Given the description of an element on the screen output the (x, y) to click on. 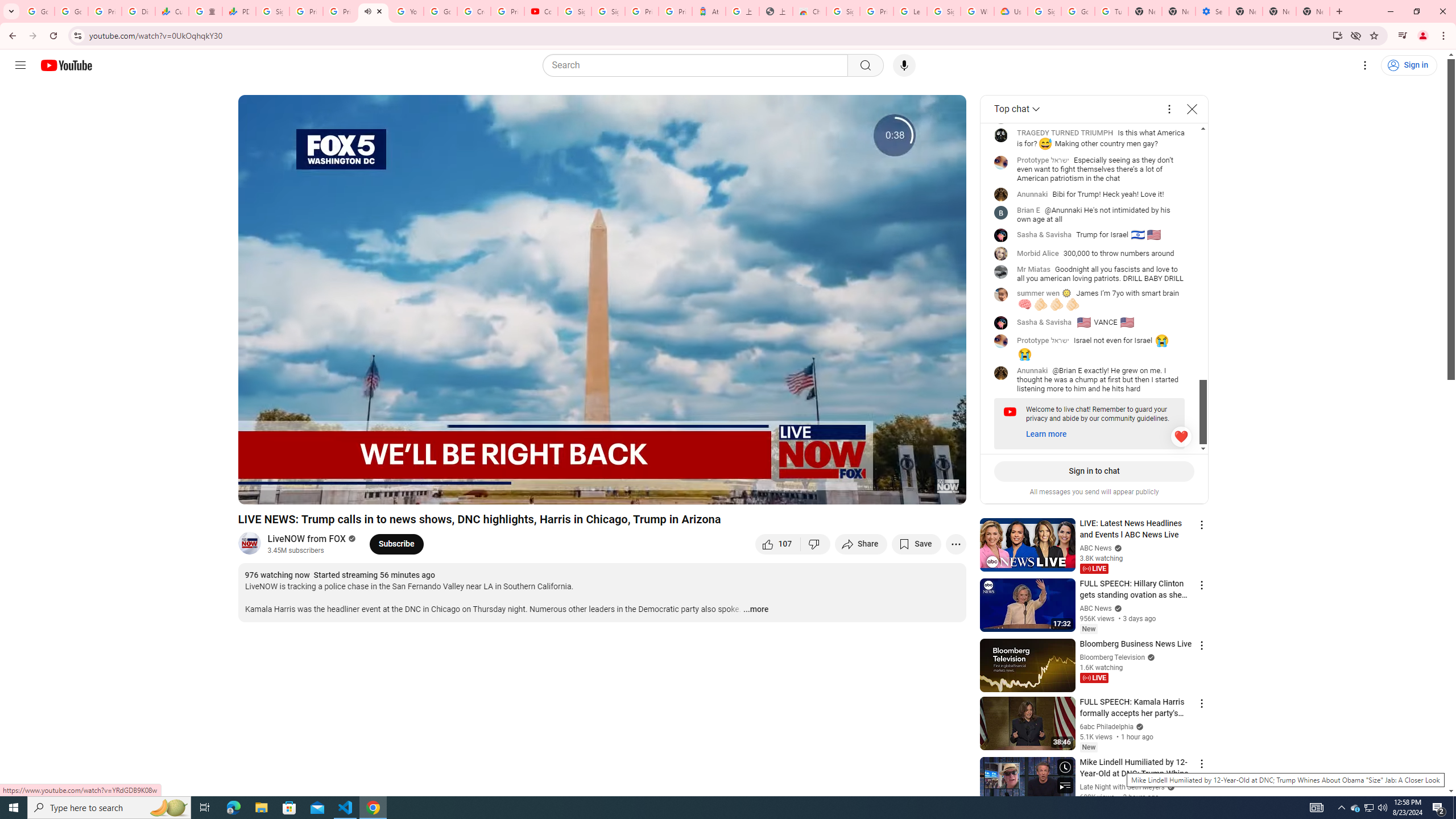
New Tab (1246, 11)
Channel watermark (947, 486)
Sign in - Google Accounts (1043, 11)
Subtitles/closed captions unavailable (836, 490)
Search with your voice (903, 65)
Learn more (1045, 434)
